Given the description of an element on the screen output the (x, y) to click on. 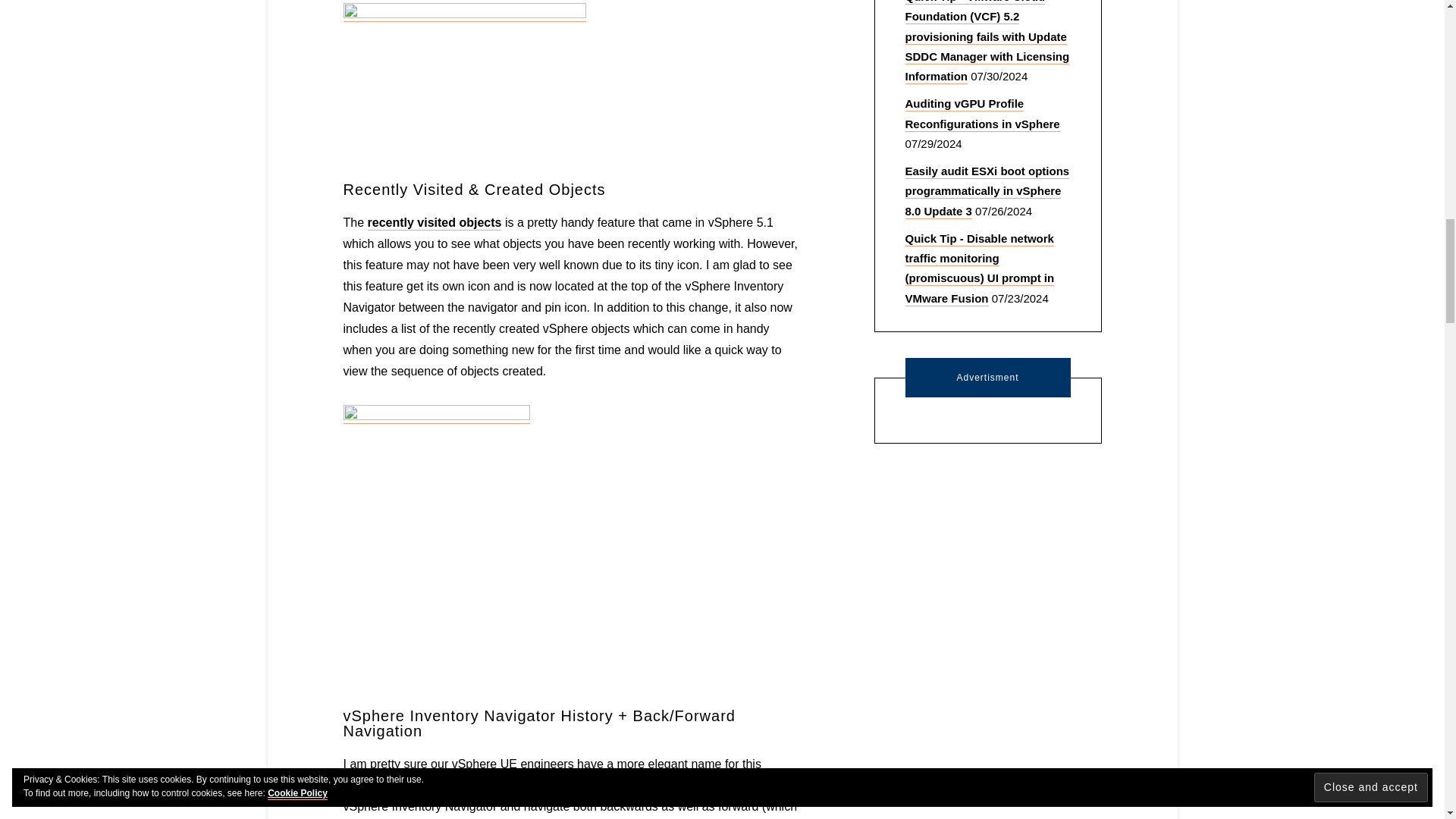
recently visited objects (435, 223)
